Given the description of an element on the screen output the (x, y) to click on. 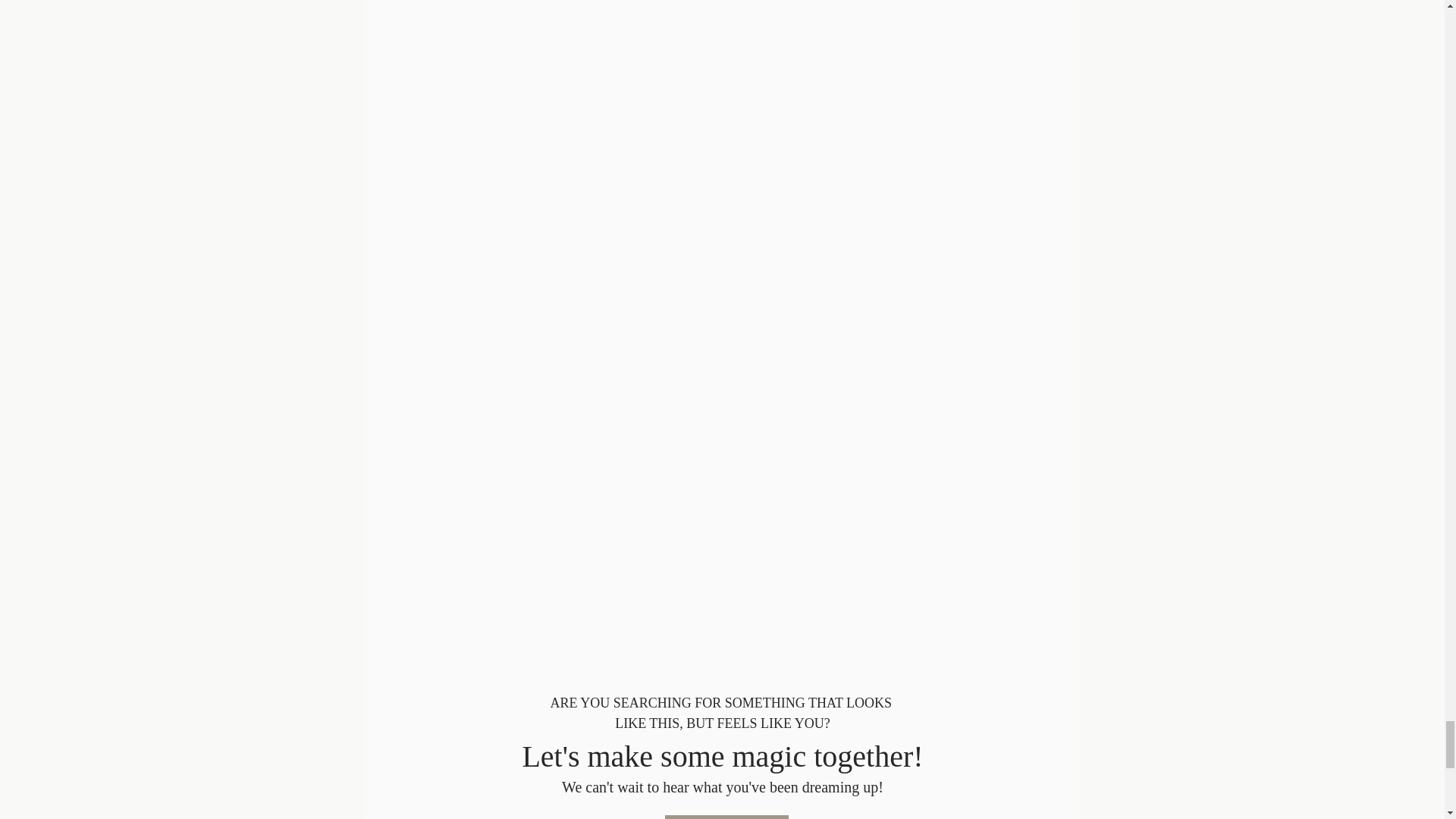
WORK WITH US (725, 816)
